Given the description of an element on the screen output the (x, y) to click on. 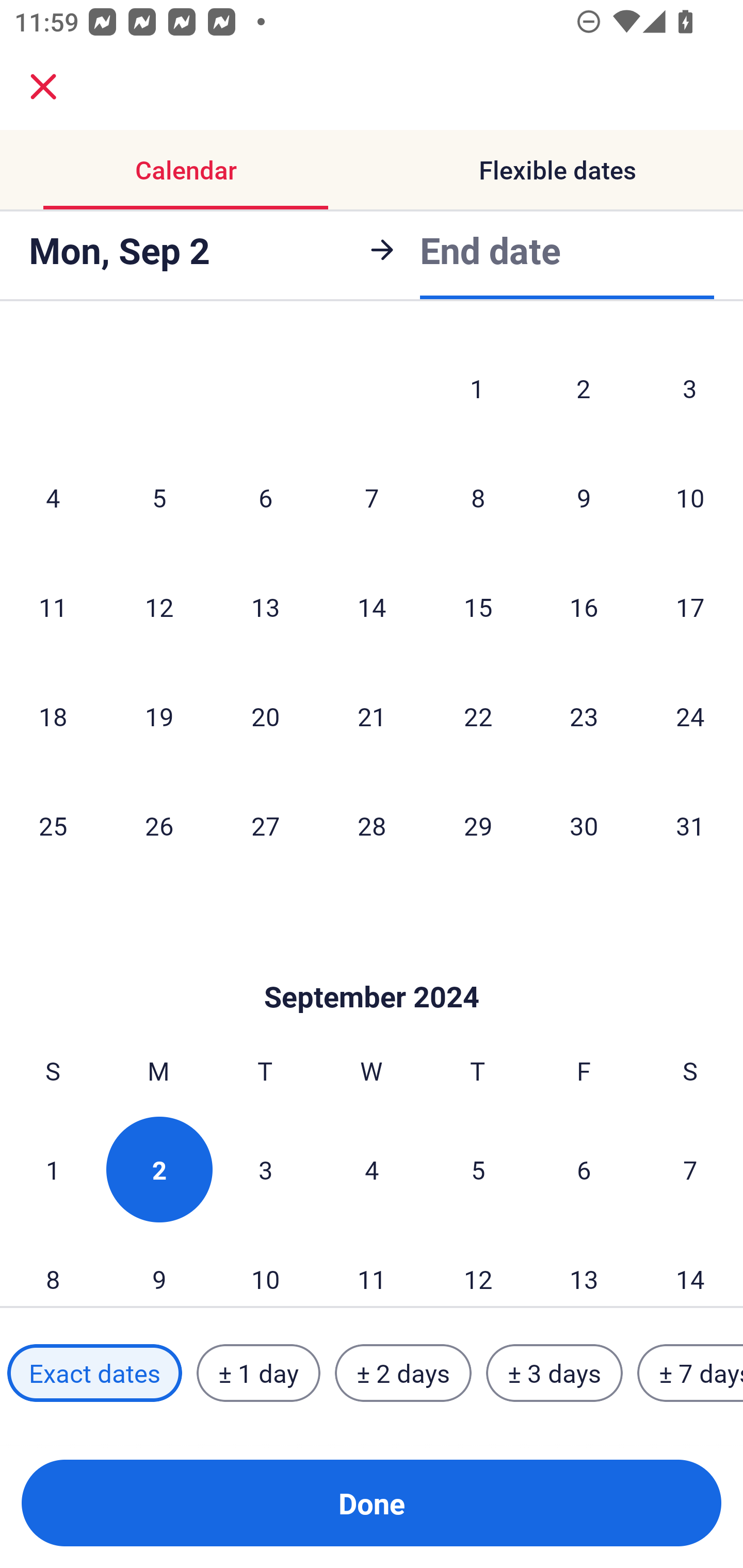
close. (43, 86)
Flexible dates (557, 170)
End date (489, 249)
1 Thursday, August 1, 2024 (477, 387)
2 Friday, August 2, 2024 (583, 387)
3 Saturday, August 3, 2024 (689, 387)
4 Sunday, August 4, 2024 (53, 497)
5 Monday, August 5, 2024 (159, 497)
6 Tuesday, August 6, 2024 (265, 497)
7 Wednesday, August 7, 2024 (371, 497)
8 Thursday, August 8, 2024 (477, 497)
9 Friday, August 9, 2024 (584, 497)
10 Saturday, August 10, 2024 (690, 497)
11 Sunday, August 11, 2024 (53, 606)
12 Monday, August 12, 2024 (159, 606)
13 Tuesday, August 13, 2024 (265, 606)
14 Wednesday, August 14, 2024 (371, 606)
15 Thursday, August 15, 2024 (477, 606)
16 Friday, August 16, 2024 (584, 606)
17 Saturday, August 17, 2024 (690, 606)
18 Sunday, August 18, 2024 (53, 715)
19 Monday, August 19, 2024 (159, 715)
20 Tuesday, August 20, 2024 (265, 715)
21 Wednesday, August 21, 2024 (371, 715)
22 Thursday, August 22, 2024 (477, 715)
23 Friday, August 23, 2024 (584, 715)
24 Saturday, August 24, 2024 (690, 715)
25 Sunday, August 25, 2024 (53, 825)
26 Monday, August 26, 2024 (159, 825)
27 Tuesday, August 27, 2024 (265, 825)
28 Wednesday, August 28, 2024 (371, 825)
29 Thursday, August 29, 2024 (477, 825)
30 Friday, August 30, 2024 (584, 825)
31 Saturday, August 31, 2024 (690, 825)
Skip to Done (371, 965)
1 Sunday, September 1, 2024 (53, 1169)
3 Tuesday, September 3, 2024 (265, 1169)
4 Wednesday, September 4, 2024 (371, 1169)
5 Thursday, September 5, 2024 (477, 1169)
6 Friday, September 6, 2024 (584, 1169)
7 Saturday, September 7, 2024 (690, 1169)
8 Sunday, September 8, 2024 (53, 1266)
9 Monday, September 9, 2024 (159, 1266)
10 Tuesday, September 10, 2024 (265, 1266)
11 Wednesday, September 11, 2024 (371, 1266)
12 Thursday, September 12, 2024 (477, 1266)
13 Friday, September 13, 2024 (584, 1266)
14 Saturday, September 14, 2024 (690, 1266)
Exact dates (94, 1372)
± 1 day (258, 1372)
